Given the description of an element on the screen output the (x, y) to click on. 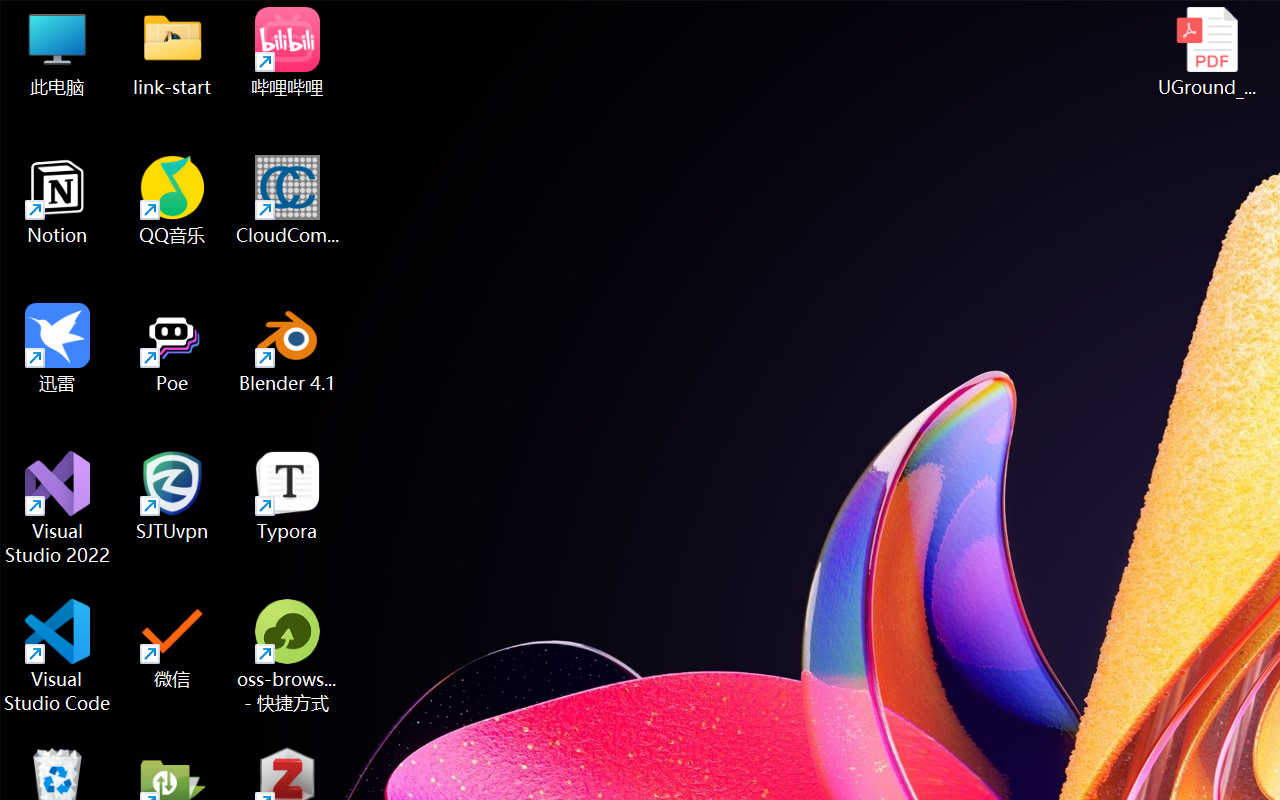
UGround_paper.pdf (1206, 52)
SJTUvpn (172, 496)
Visual Studio 2022 (57, 508)
CloudCompare (287, 200)
Typora (287, 496)
Visual Studio Code (57, 656)
Blender 4.1 (287, 348)
